Given the description of an element on the screen output the (x, y) to click on. 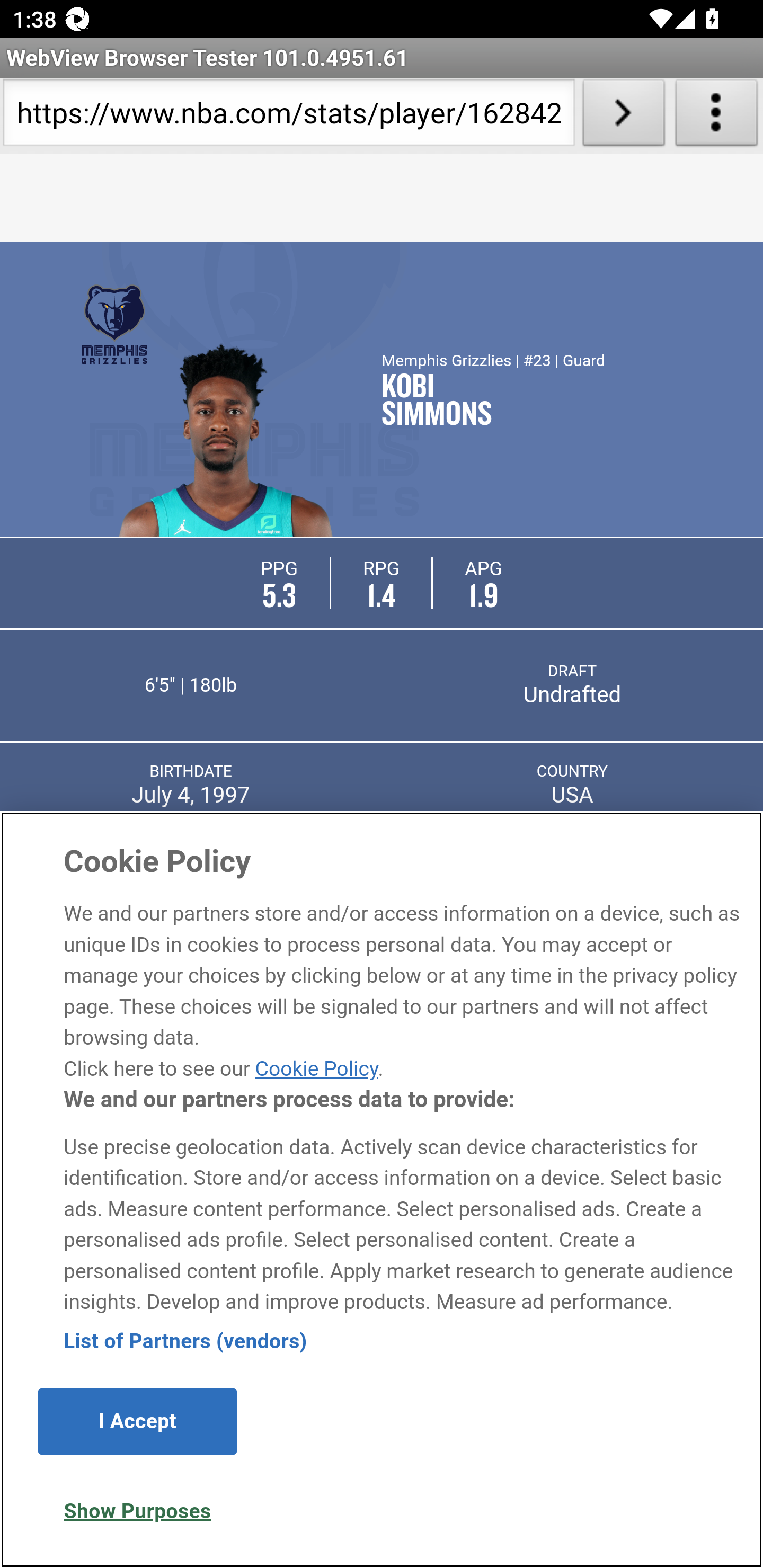
https://www.nba.com/stats/player/1628424 (288, 115)
Load URL (623, 115)
About WebView (716, 115)
Memphis Grizzlies Logo (114, 323)
Cookie Policy (316, 1068)
List of Partners (vendors) (185, 1340)
I Accept (137, 1421)
Show Purposes (137, 1511)
